Given the description of an element on the screen output the (x, y) to click on. 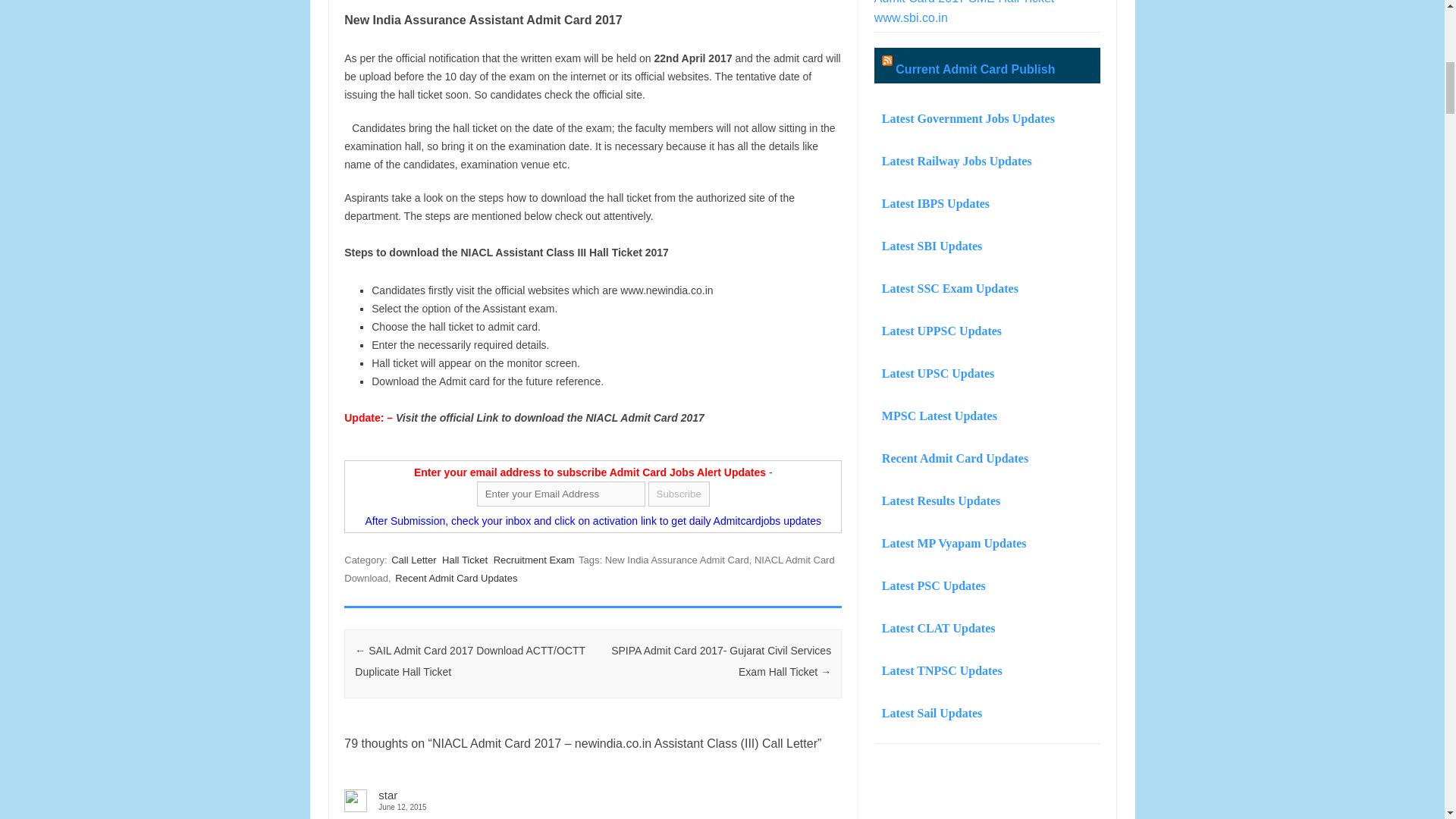
Hall Ticket (465, 559)
Recent Admit Card Updates (455, 577)
Subscribe (678, 493)
Subscribe (678, 493)
Recruitment Exam (534, 559)
June 12, 2015 (592, 807)
Call Letter (414, 559)
